Given the description of an element on the screen output the (x, y) to click on. 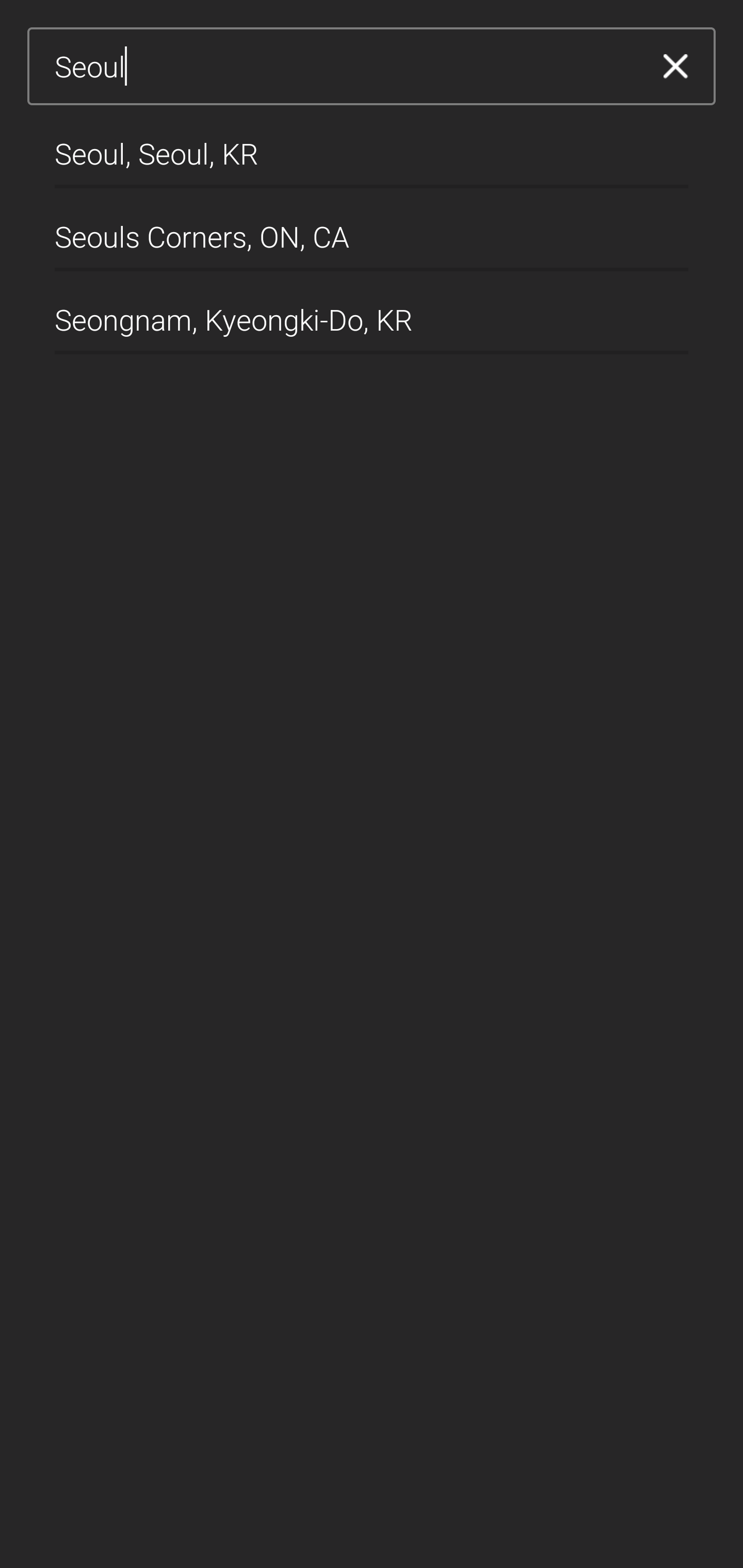
Seoul (345, 66)
Seoul, Seoul, KR (371, 146)
Seouls Corners, ON, CA (371, 229)
Seongnam, Kyeongki-Do, KR (371, 312)
